Given the description of an element on the screen output the (x, y) to click on. 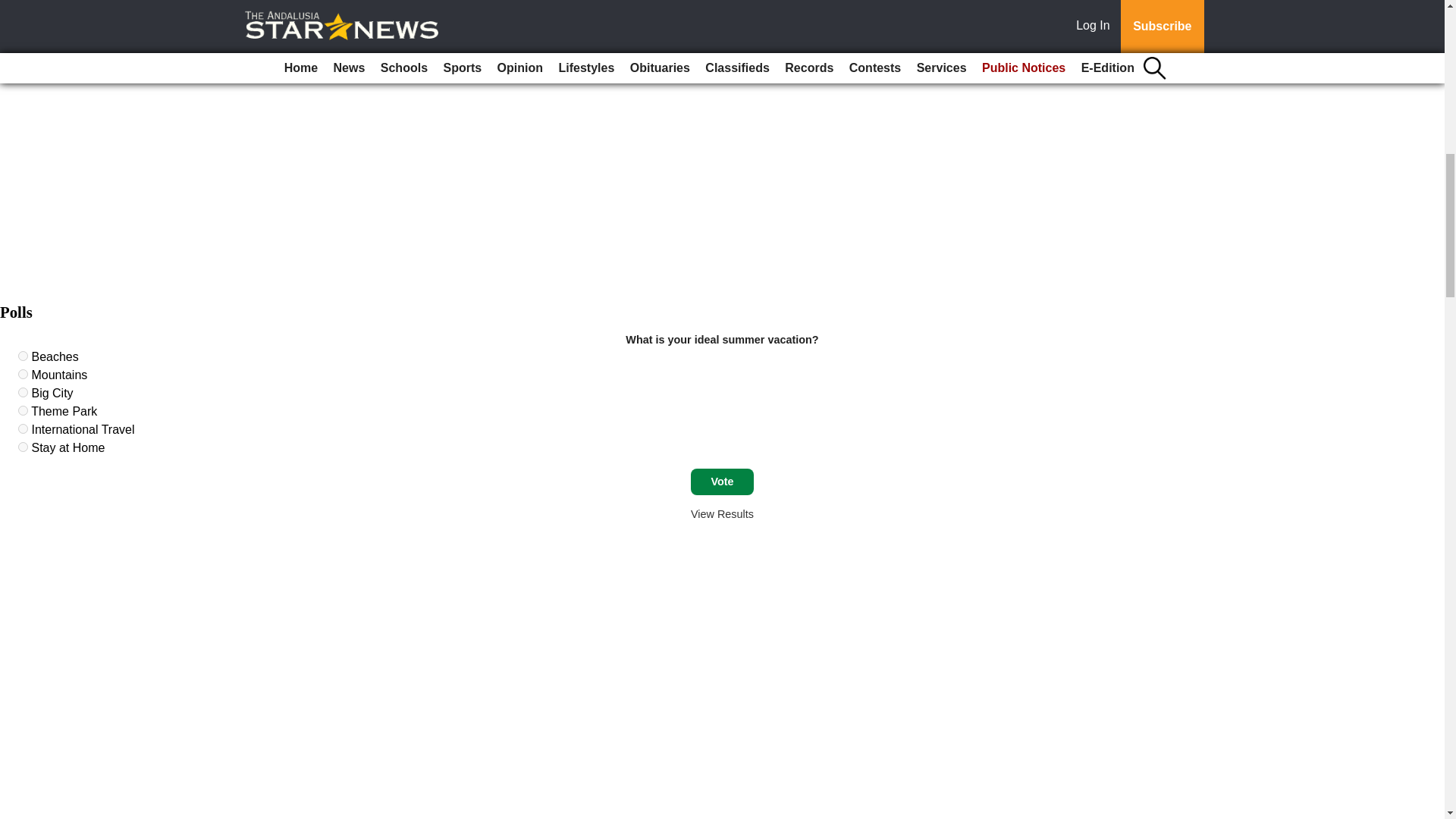
   Vote    (722, 482)
745 (22, 374)
744 (22, 356)
746 (22, 392)
View Results (722, 513)
748 (22, 429)
View Results Of This Poll (722, 513)
749 (22, 447)
747 (22, 410)
